Given the description of an element on the screen output the (x, y) to click on. 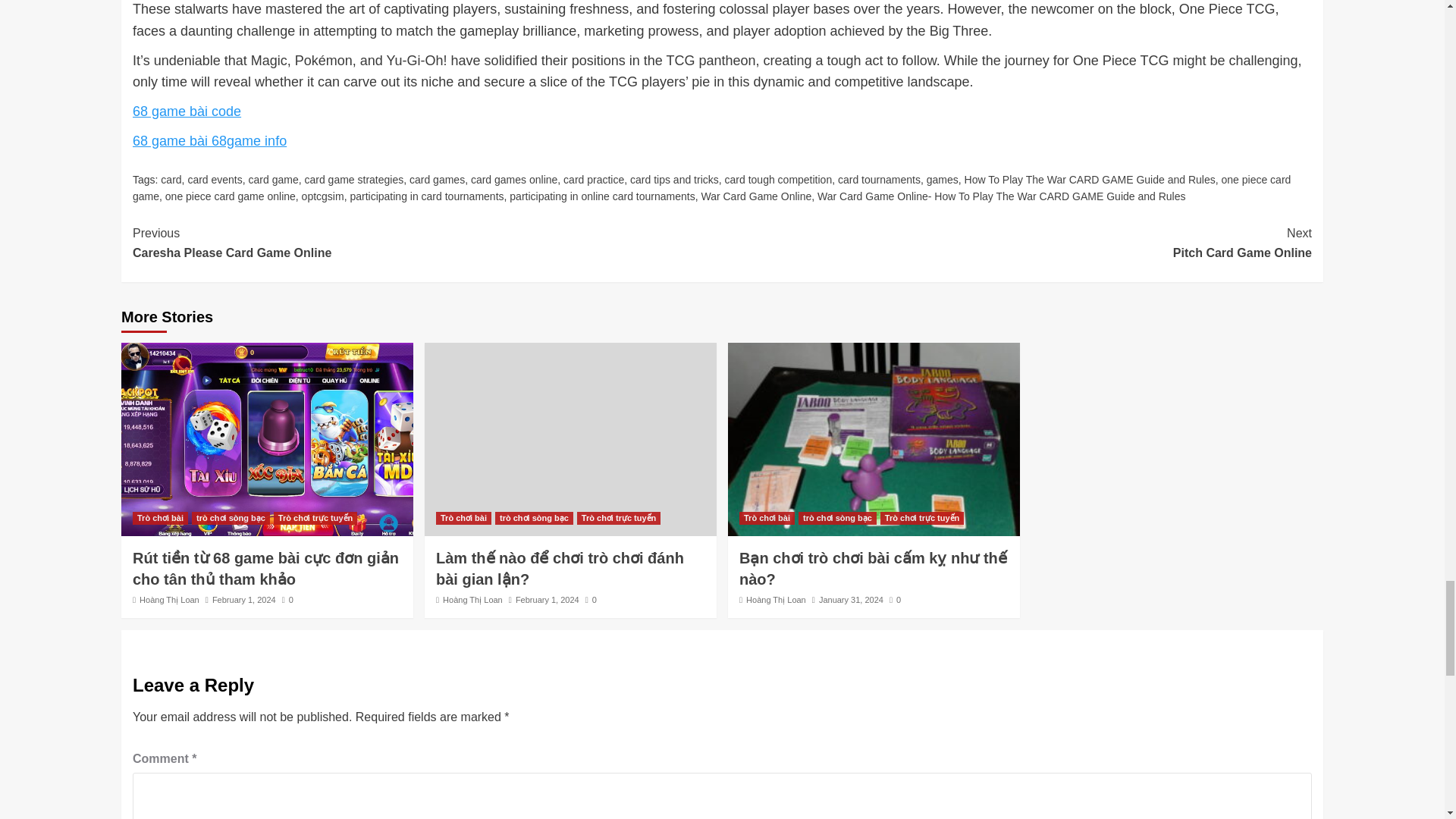
card practice (593, 179)
card game (273, 179)
card games online (513, 179)
card events (214, 179)
card (170, 179)
card games (436, 179)
card game strategies (353, 179)
